Given the description of an element on the screen output the (x, y) to click on. 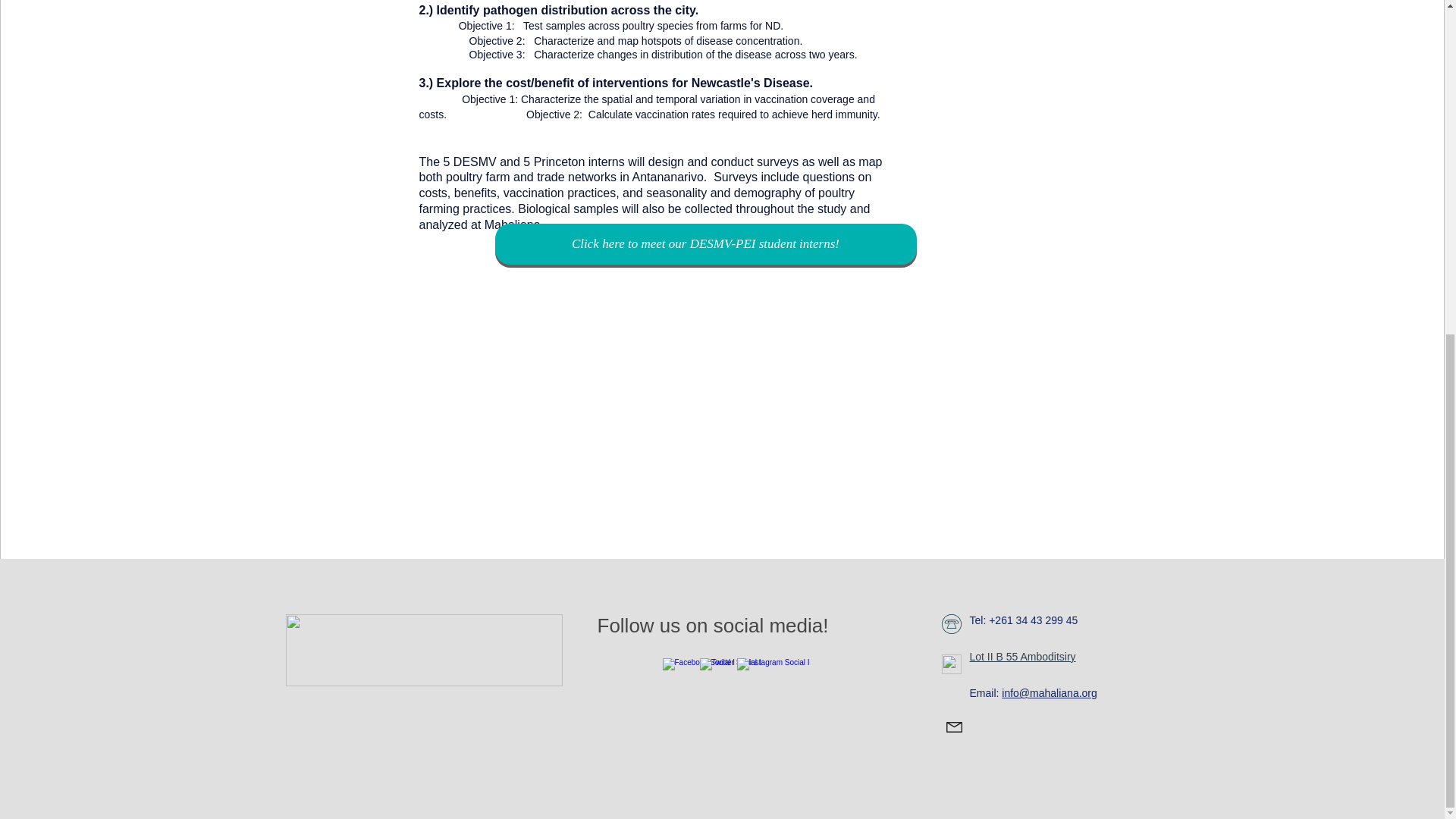
Click here to meet our DESMV-PEI student interns! (705, 243)
mahaliana20171201EATFR.png (423, 650)
Lot II B 55 Amboditsiry (1022, 656)
